Given the description of an element on the screen output the (x, y) to click on. 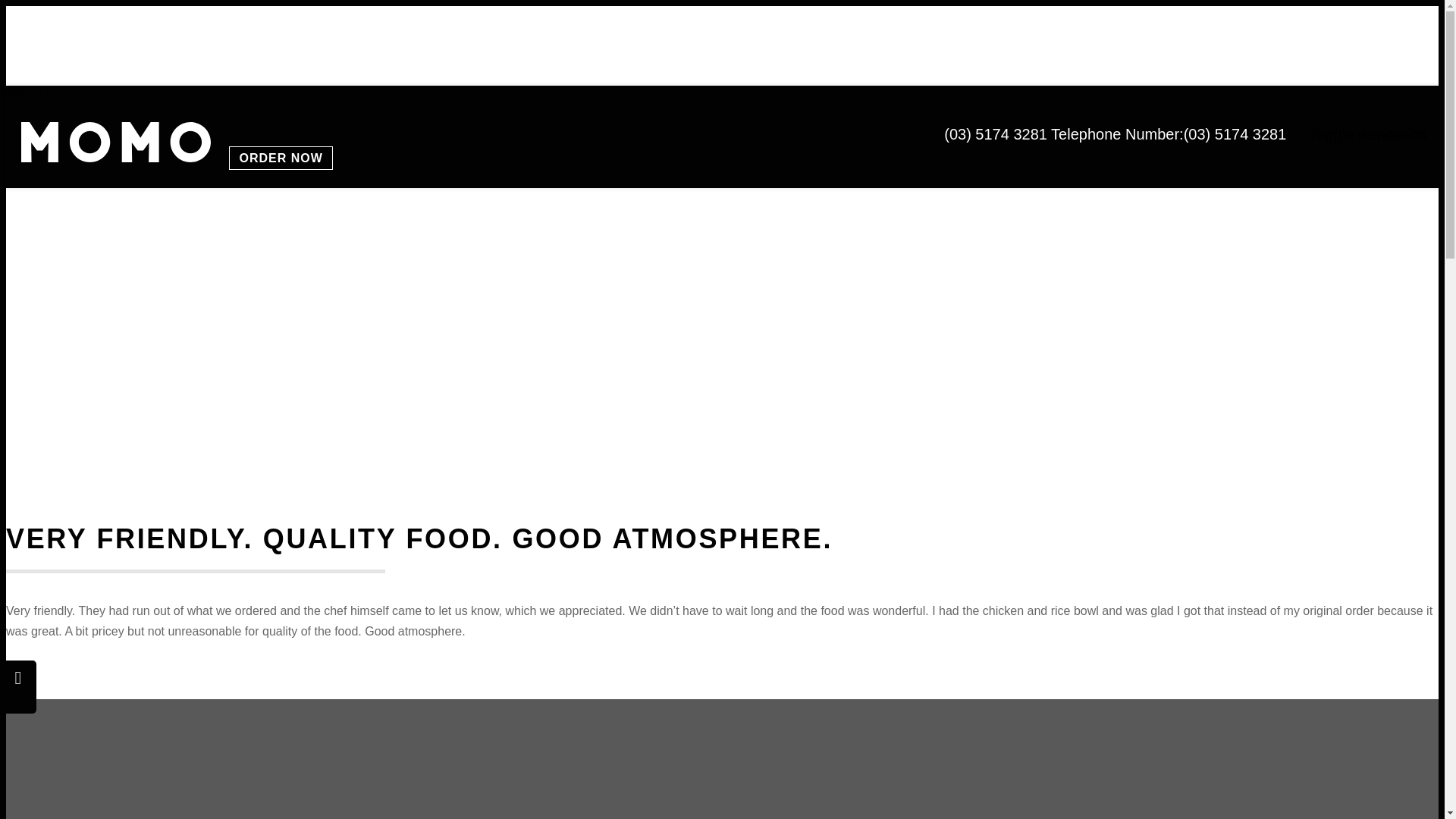
ORDER NOW Element type: text (280, 157)
Toggle navigation Element type: text (1367, 134)
Skip to content Element type: text (46, 91)
(03) 5174 3281 Telephone Number:(03) 5174 3281 Element type: text (1115, 133)
